Given the description of an element on the screen output the (x, y) to click on. 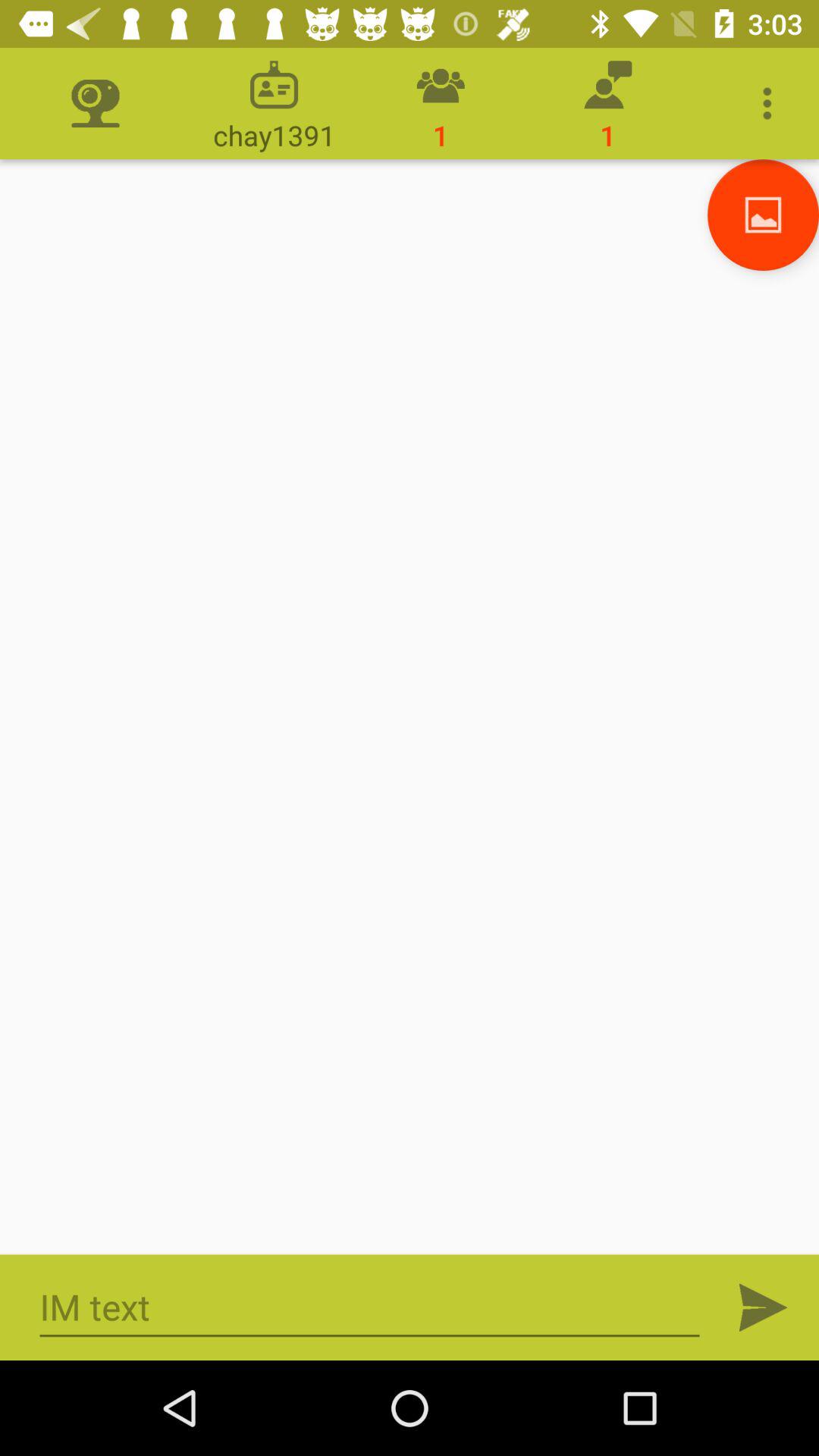
open text box (369, 1307)
